Given the description of an element on the screen output the (x, y) to click on. 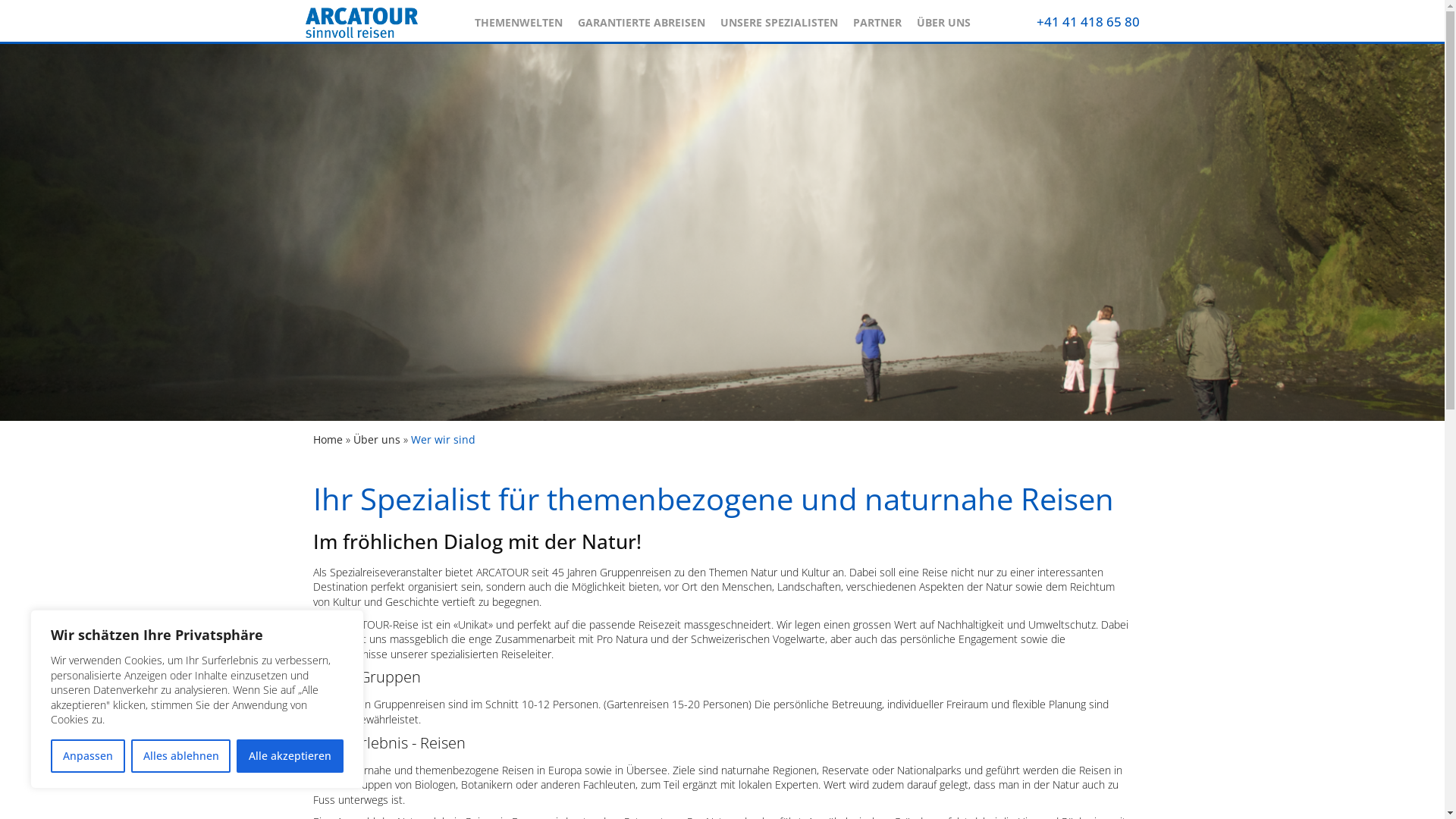
Alle akzeptieren Element type: text (289, 755)
GARANTIERTE ABREISEN Element type: text (641, 18)
Alles ablehnen Element type: text (181, 755)
THEMENWELTEN Element type: text (518, 18)
+41 41 418 65 80 Element type: text (1087, 21)
Home Element type: text (327, 439)
Anpassen Element type: text (87, 755)
PARTNER Element type: text (876, 18)
UNSERE SPEZIALISTEN Element type: text (778, 18)
